Given the description of an element on the screen output the (x, y) to click on. 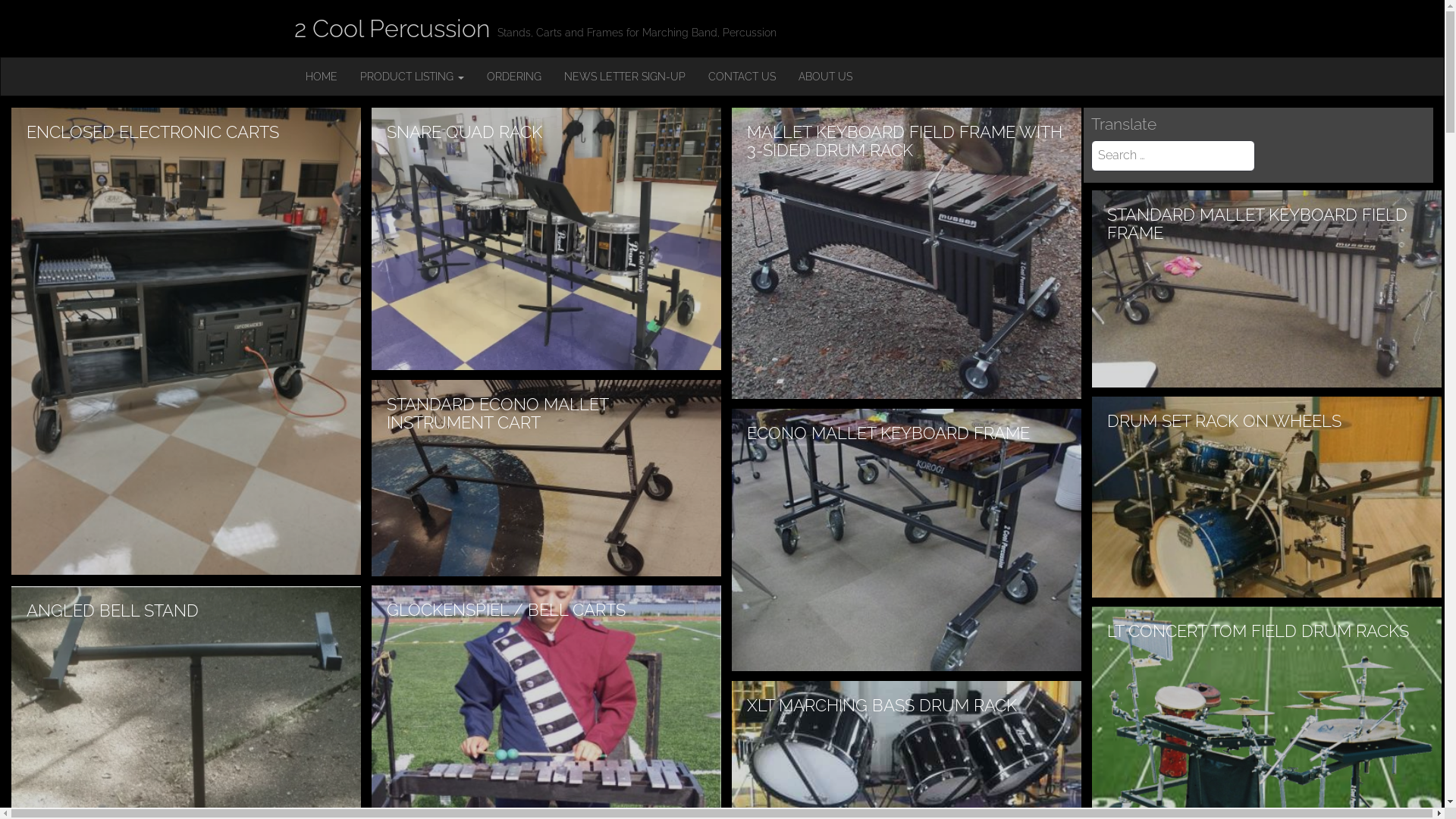
SKIP TO CONTENT Element type: text (292, 56)
Econo Mallet Keyboard Frame Element type: hover (906, 539)
HOME Element type: text (321, 76)
2 Cool Percussion drum set rack on wheel Mapex set Element type: hover (1266, 496)
Enclosed Electronic Carts Element type: hover (185, 340)
ORDERING Element type: text (513, 76)
NEWS LETTER SIGN-UP Element type: text (624, 76)
2 Cool Percussion standard econo mallet frame 1 Element type: hover (546, 477)
2 Cool Percussion Element type: text (391, 28)
CONTACT US Element type: text (741, 76)
2 Cool Percussion Stand Mallet Frames Musser M350 Element type: hover (1266, 288)
PRODUCT LISTING Element type: text (411, 76)
Snare quad Rack 1 Element type: hover (546, 238)
ABOUT US Element type: text (825, 76)
